Given the description of an element on the screen output the (x, y) to click on. 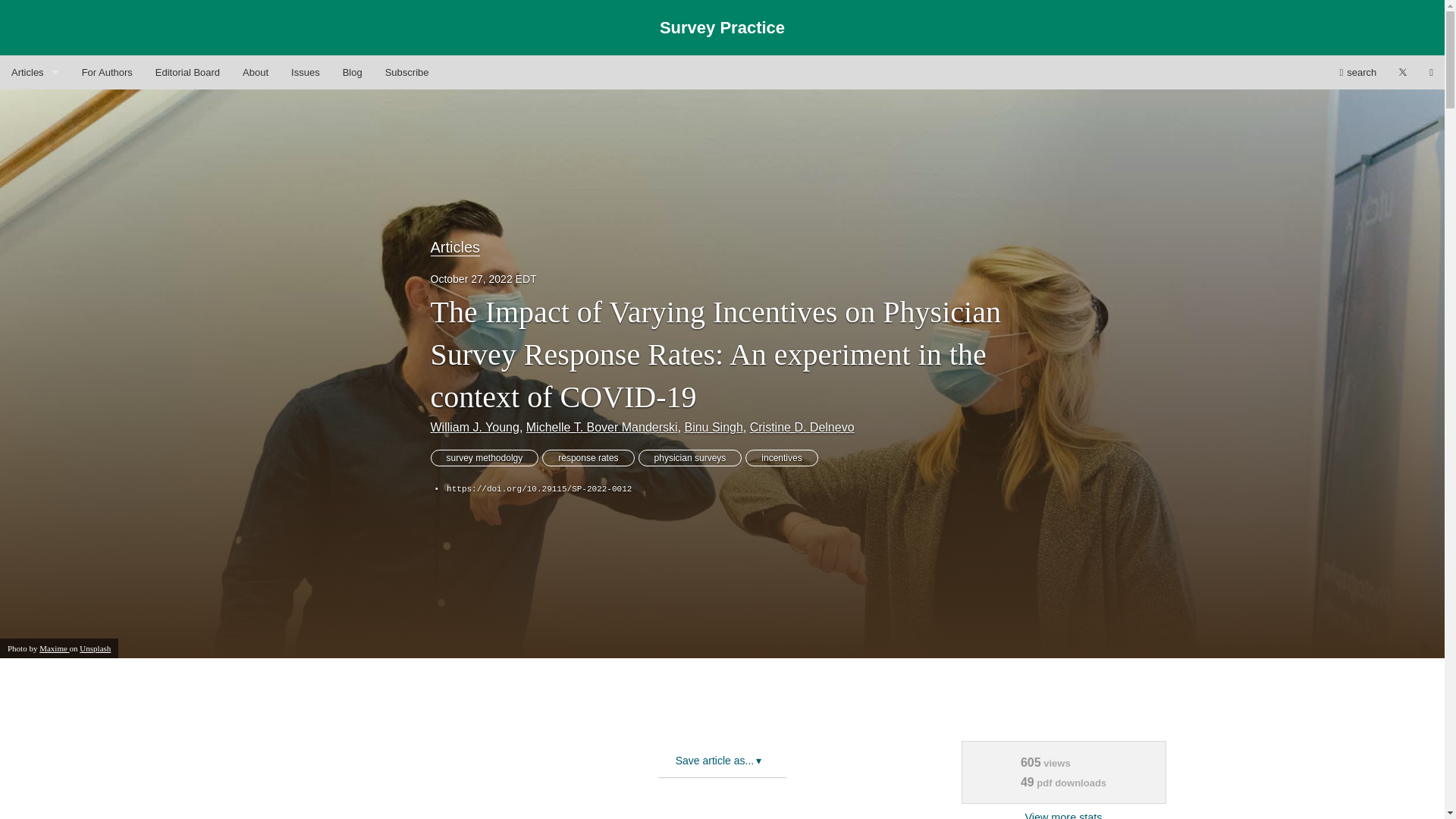
About (255, 72)
Binu Singh (713, 427)
Recent Books, Papers, and Presentations (34, 243)
Blog (352, 72)
Maxime (53, 646)
search (1357, 72)
Editor Notes (34, 140)
Survey Practice (721, 27)
physician surveys (690, 457)
Articles (455, 247)
